Given the description of an element on the screen output the (x, y) to click on. 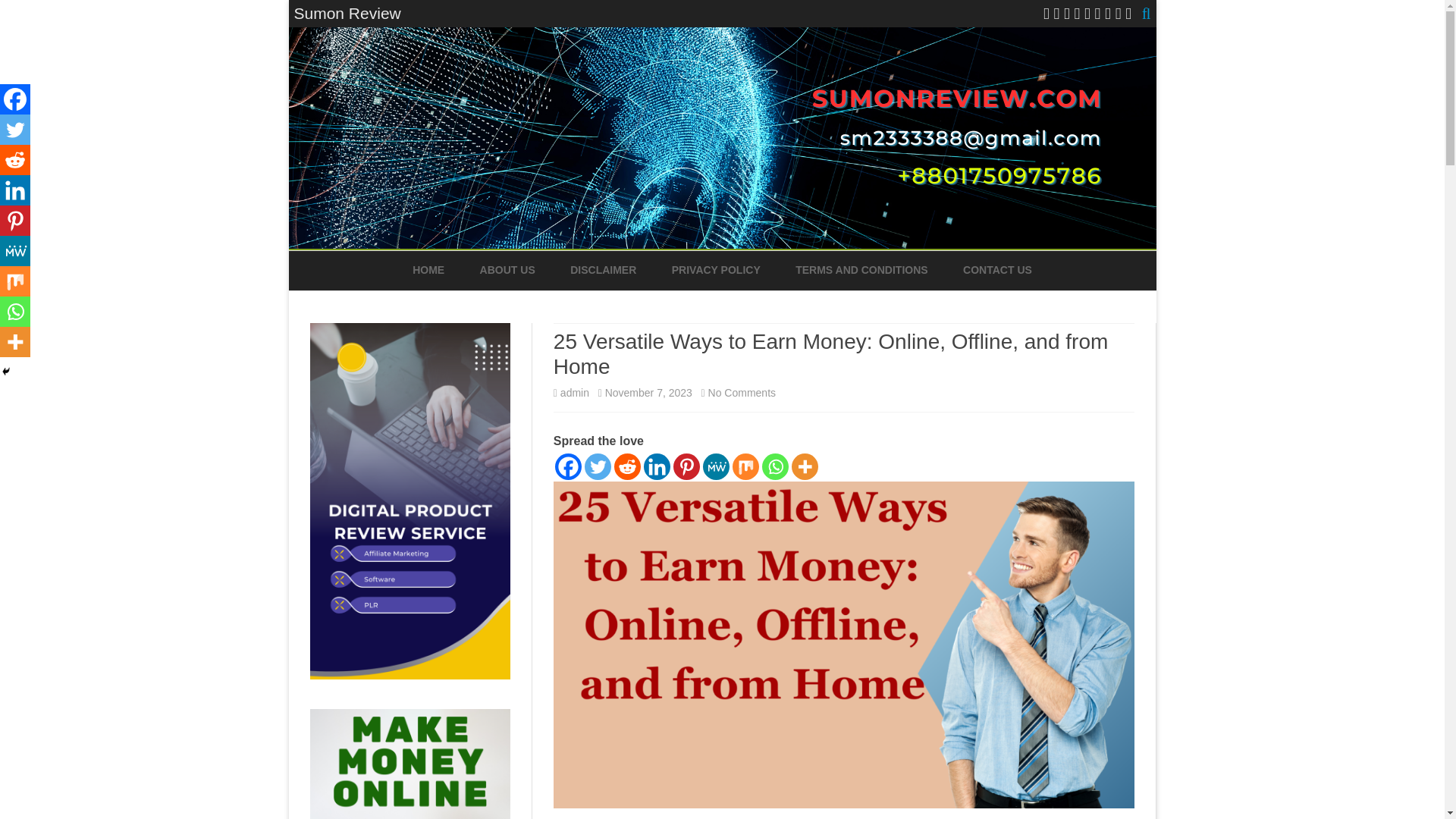
DISCLAIMER (603, 270)
PRIVACY POLICY (715, 270)
CONTACT US (997, 270)
admin (574, 392)
TERMS AND CONDITIONS (860, 270)
ABOUT US (507, 270)
